Given the description of an element on the screen output the (x, y) to click on. 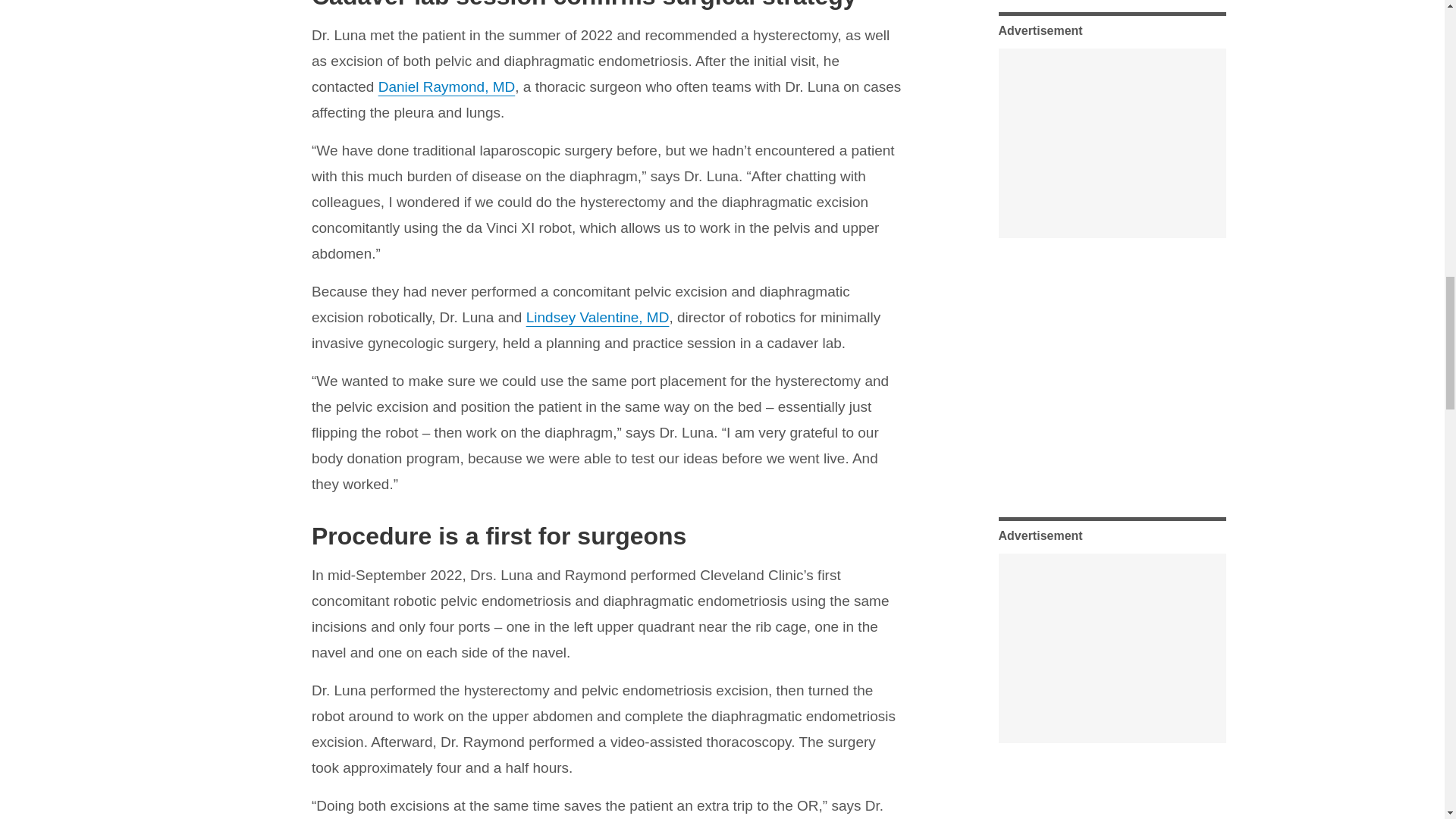
Daniel Raymond, MD (446, 86)
Lindsey Valentine, MD (597, 317)
